Given the description of an element on the screen output the (x, y) to click on. 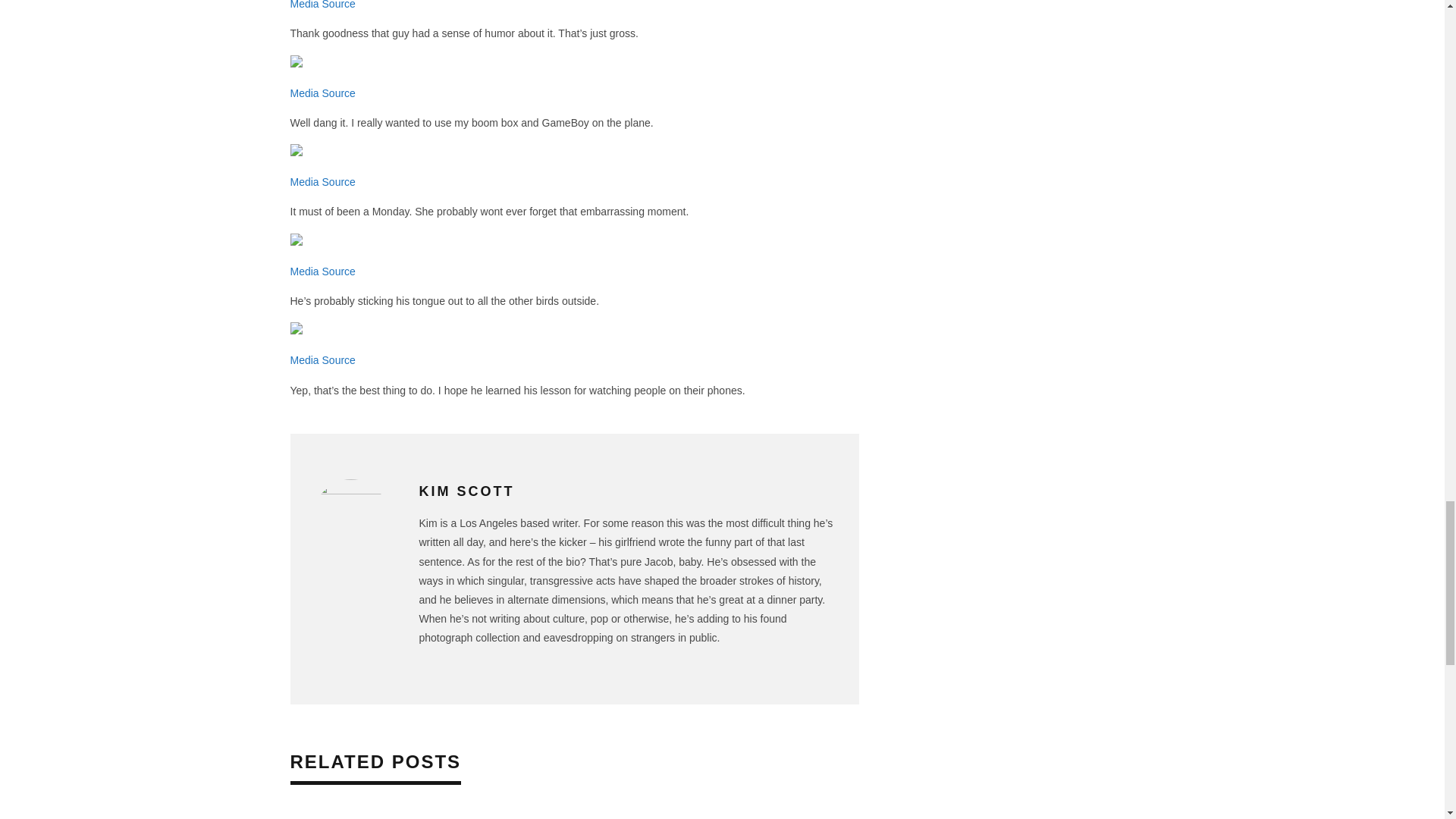
Media Source (322, 92)
Media Source (322, 4)
Media Source (322, 271)
KIM SCOTT (466, 491)
Media Source (322, 359)
Media Source (322, 182)
